Given the description of an element on the screen output the (x, y) to click on. 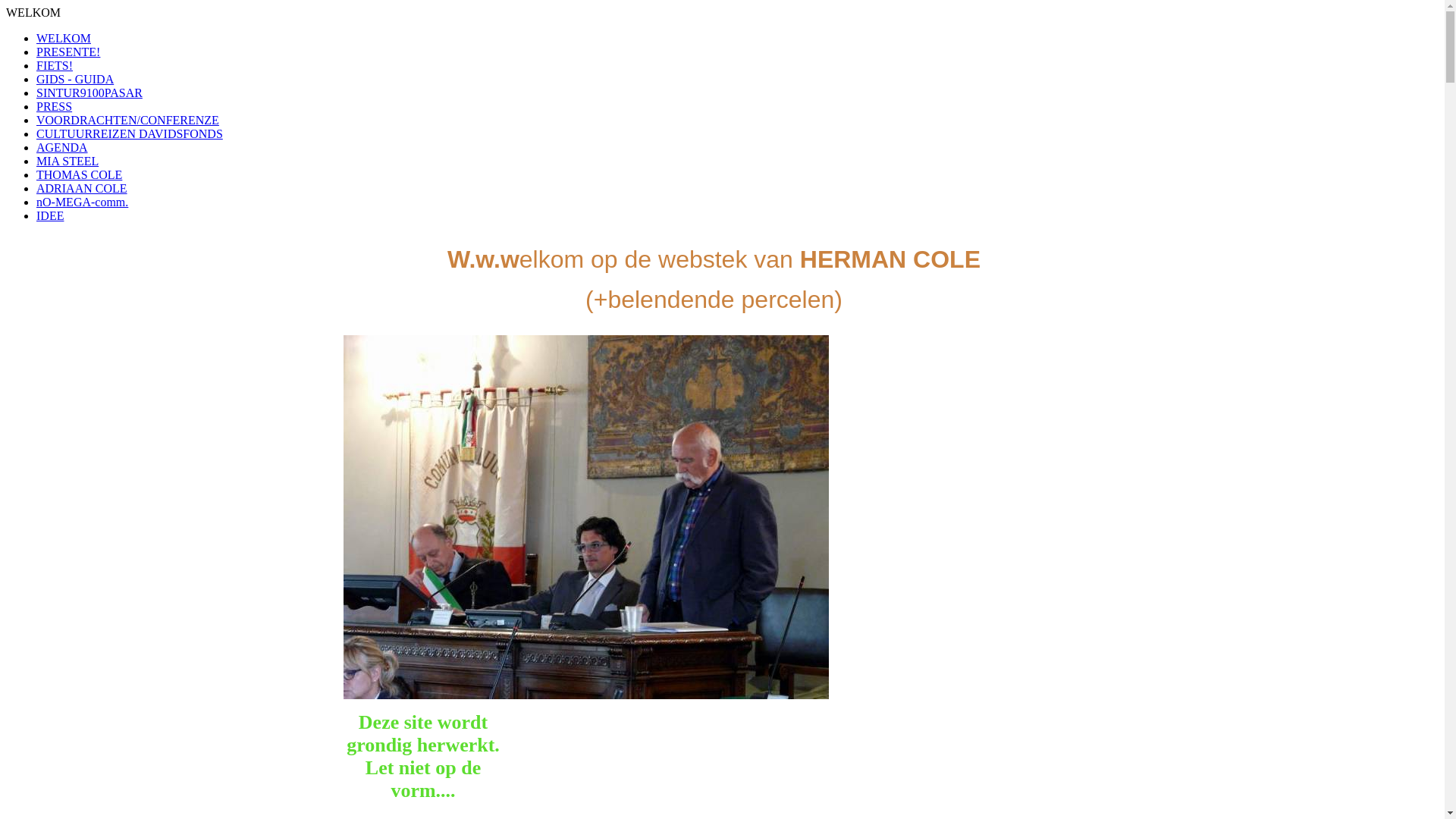
ADRIAAN COLE Element type: text (81, 188)
FIETS! Element type: text (54, 65)
VOORDRACHTEN/CONFERENZE Element type: text (127, 119)
MIA STEEL Element type: text (67, 160)
IDEE Element type: text (49, 215)
THOMAS COLE Element type: text (79, 174)
WELKOM Element type: text (63, 37)
GIDS - GUIDA Element type: text (74, 78)
AGENDA Element type: text (61, 147)
SINTUR9100PASAR Element type: text (89, 92)
PRESENTE! Element type: text (68, 51)
PRESS Element type: text (54, 106)
CULTUURREIZEN DAVIDSFONDS Element type: text (129, 133)
nO-MEGA-comm. Element type: text (82, 201)
